Given the description of an element on the screen output the (x, y) to click on. 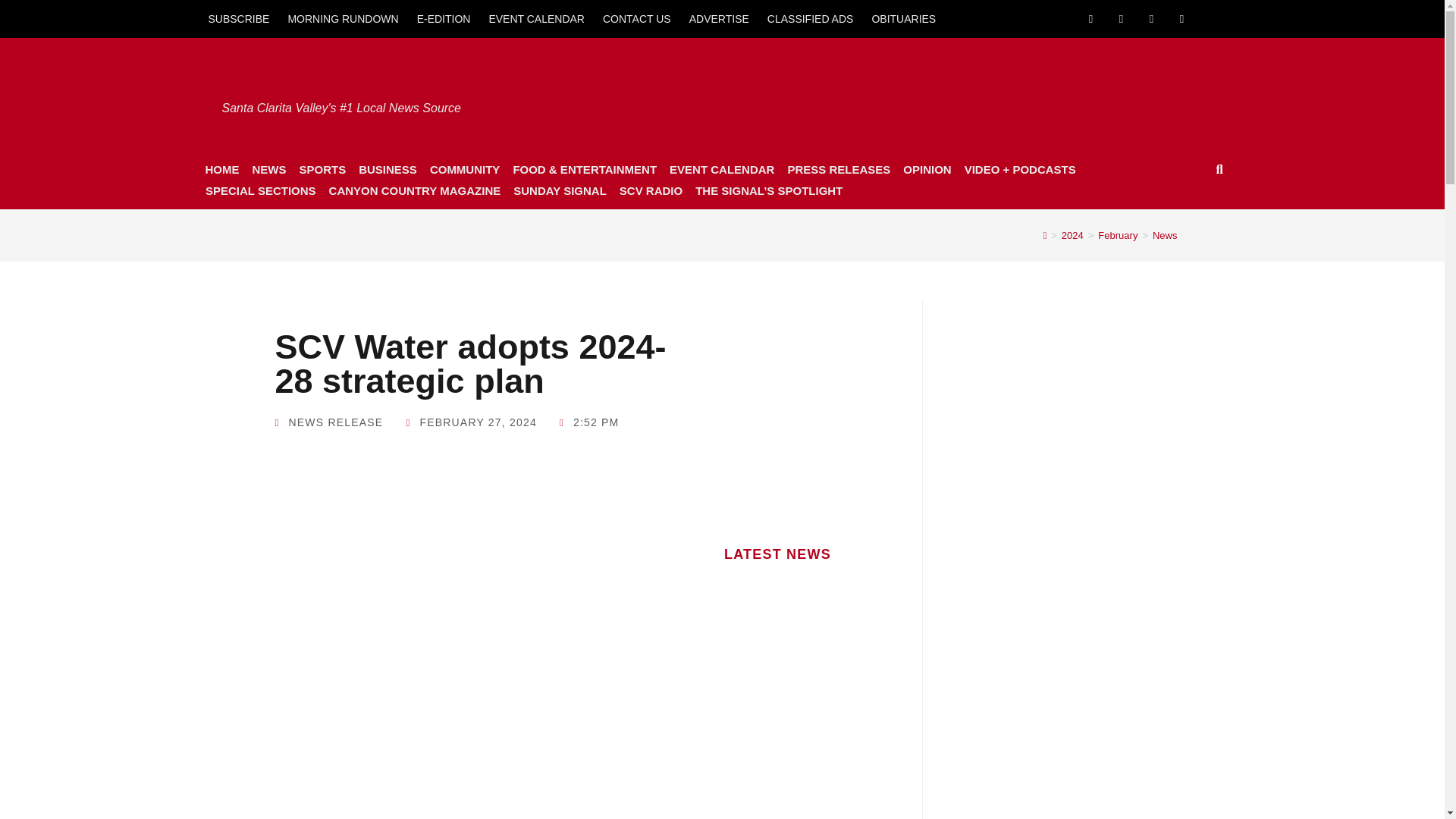
NEWS (269, 169)
E-EDITION (443, 18)
OBITUARIES (902, 18)
SUBSCRIBE (238, 18)
HOME (221, 169)
SPORTS (322, 169)
CONTACT US (636, 18)
CLASSIFIED ADS (810, 18)
EVENT CALENDAR (536, 18)
MORNING RUNDOWN (342, 18)
ADVERTISE (718, 18)
